Given the description of an element on the screen output the (x, y) to click on. 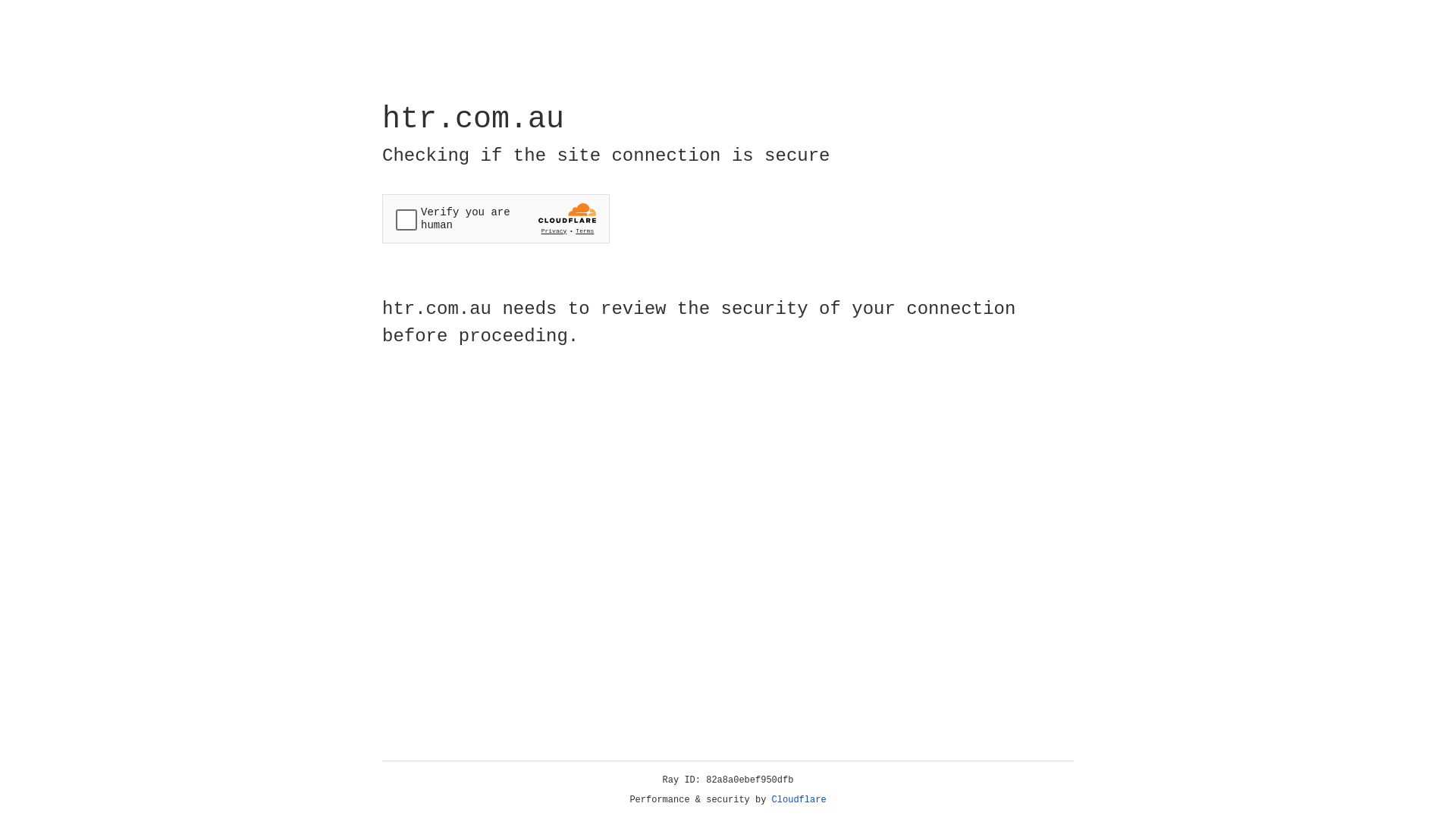
Cloudflare Element type: text (798, 799)
Widget containing a Cloudflare security challenge Element type: hover (495, 218)
